Given the description of an element on the screen output the (x, y) to click on. 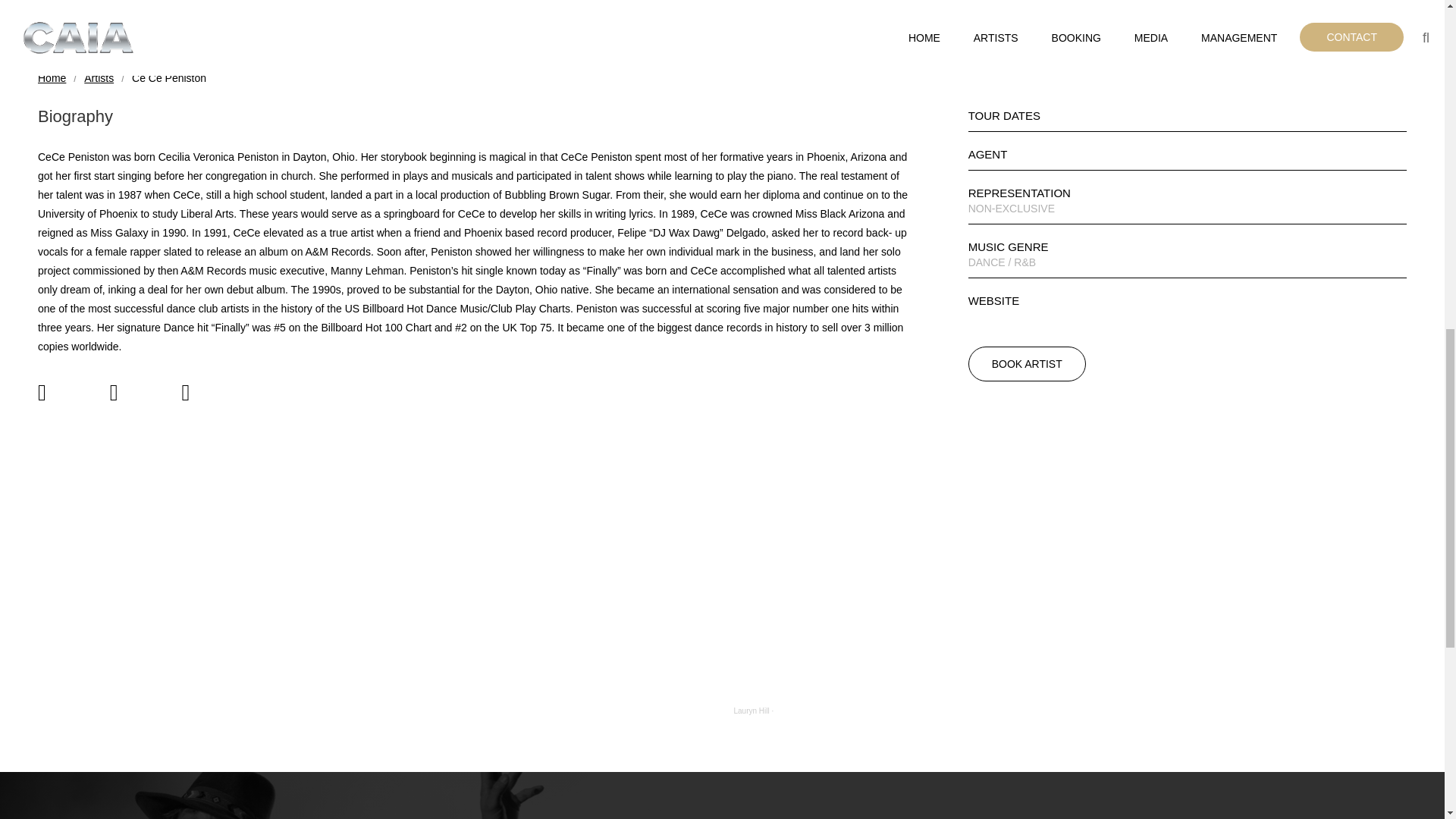
Lauryn Hill (751, 710)
BOOK ARTIST (1027, 363)
Artists (98, 77)
Home (51, 77)
Lauryn Hill (751, 710)
